Given the description of an element on the screen output the (x, y) to click on. 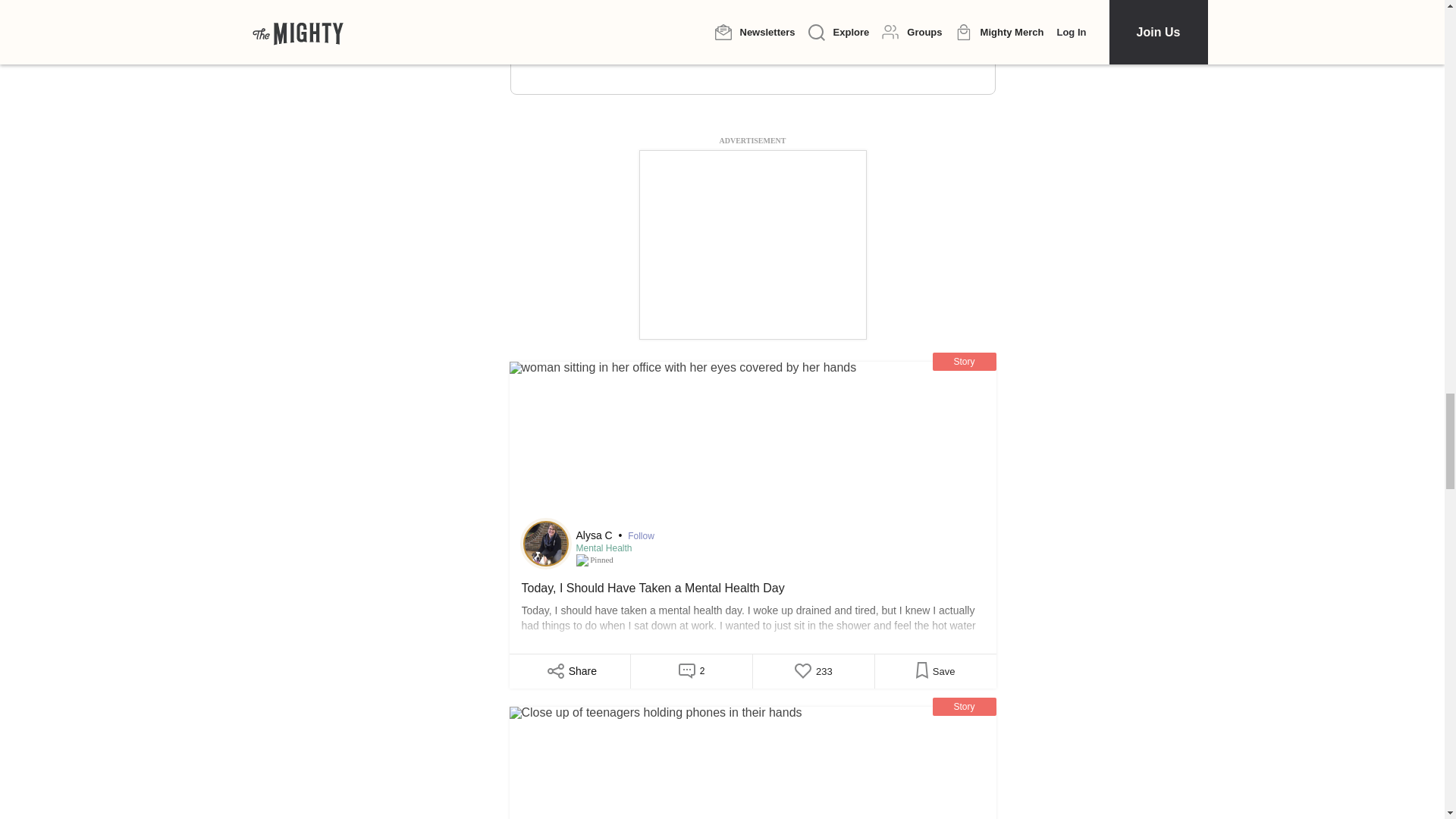
Today, I Should Have Taken a Mental Health Day (752, 442)
Today, I Should Have Taken a Mental Health Day (752, 609)
Visit Alysa C's profile (545, 542)
